Given the description of an element on the screen output the (x, y) to click on. 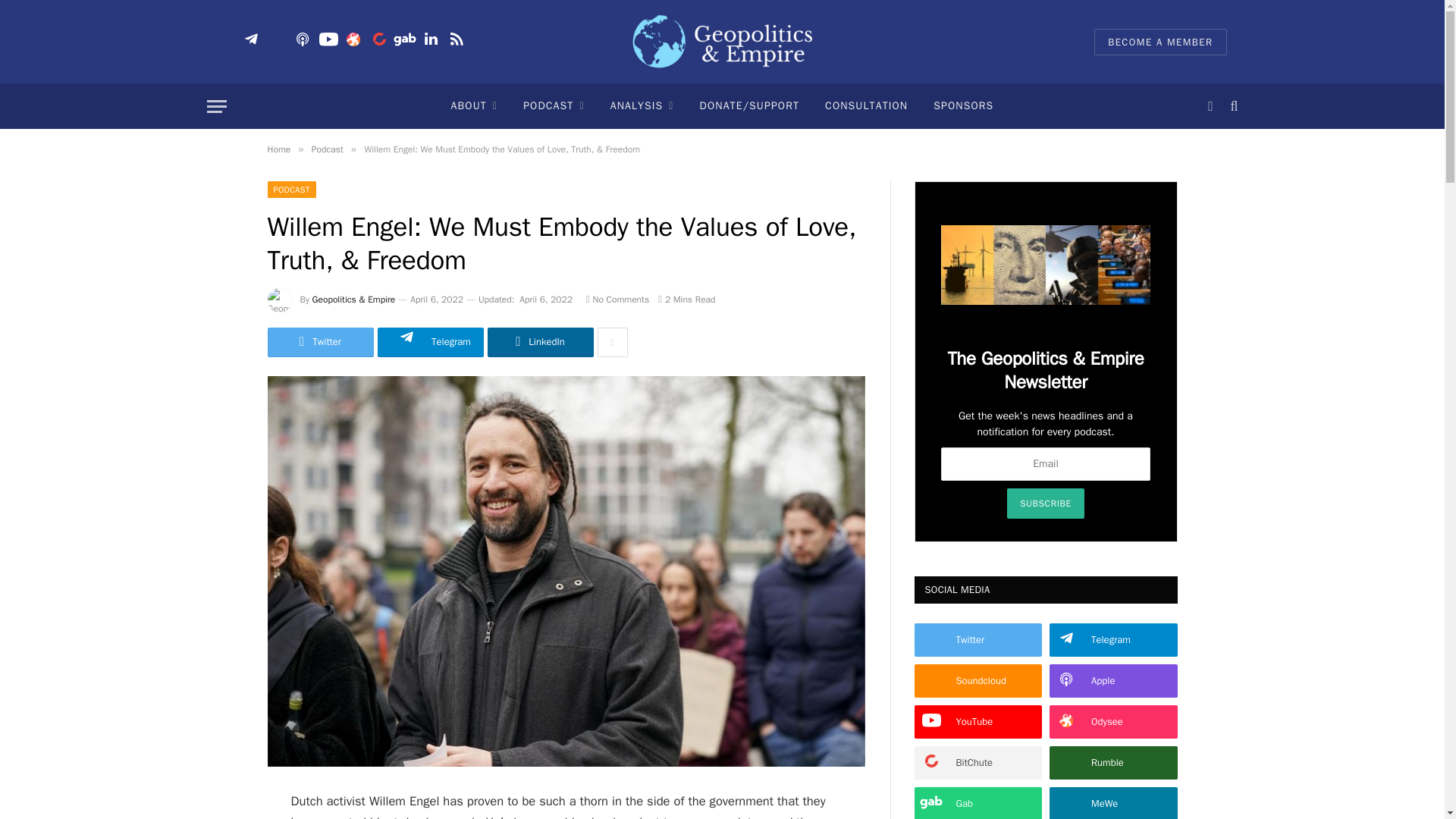
BECOME A MEMBER (1159, 41)
ABOUT (474, 105)
